Given the description of an element on the screen output the (x, y) to click on. 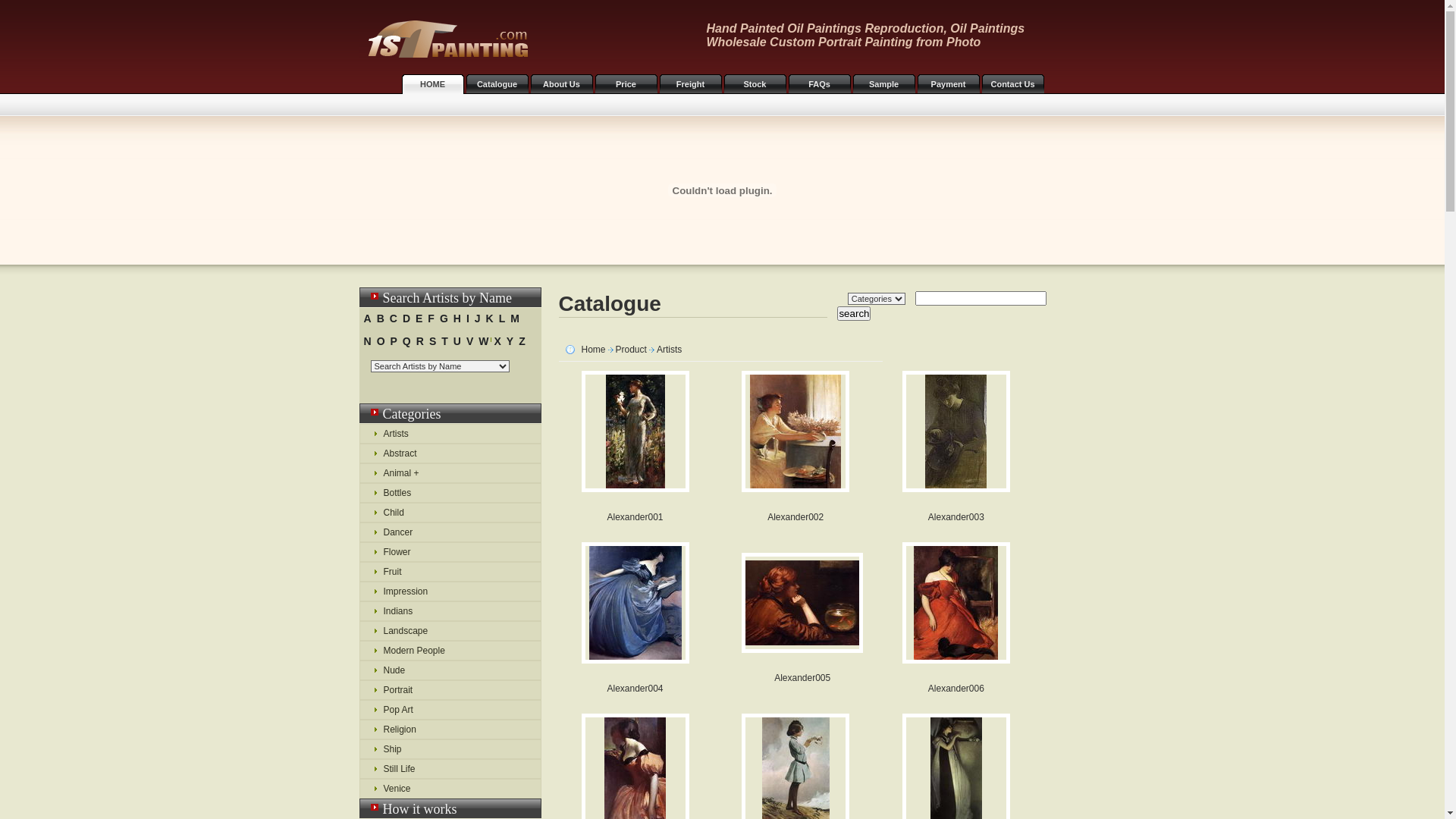
Dancer Element type: text (450, 532)
Abstract Element type: text (450, 453)
Freight Element type: text (690, 84)
Catalogue Element type: text (496, 84)
Z Element type: text (521, 341)
FAQs Element type: text (819, 84)
Fruit Element type: text (450, 571)
Flower Element type: text (450, 551)
F Element type: text (430, 318)
V Element type: text (469, 341)
K Element type: text (489, 318)
R Element type: text (420, 341)
H Element type: text (457, 318)
O Element type: text (380, 341)
About Us Element type: text (561, 84)
E Element type: text (418, 318)
Product Element type: text (630, 349)
Artists Element type: text (668, 349)
Artists Element type: text (450, 433)
Sample Element type: text (883, 84)
Animal + Element type: text (450, 473)
HOME Element type: text (432, 84)
Payment Element type: text (948, 84)
Contact Us Element type: text (1012, 84)
J Element type: text (477, 318)
N Element type: text (366, 341)
B Element type: text (380, 318)
Ship Element type: text (450, 749)
C Element type: text (393, 318)
S Element type: text (432, 341)
Pop Art Element type: text (450, 709)
P Element type: text (393, 341)
Religion Element type: text (450, 729)
T Element type: text (444, 341)
W Element type: text (483, 341)
Stock Element type: text (754, 84)
A Element type: text (366, 318)
Portrait Element type: text (450, 689)
Landscape Element type: text (450, 630)
X Element type: text (496, 341)
Y Element type: text (509, 341)
Impression Element type: text (450, 591)
M Element type: text (514, 318)
G Element type: text (443, 318)
Price Element type: text (625, 84)
Indians Element type: text (450, 611)
search Element type: text (853, 313)
Bottles Element type: text (450, 492)
Home Element type: text (592, 349)
Still Life Element type: text (450, 768)
Venice Element type: text (450, 788)
1stpainting Element type: hover (443, 35)
Child Element type: text (450, 512)
Nude Element type: text (450, 670)
L Element type: text (502, 318)
D Element type: text (406, 318)
I Element type: text (467, 318)
Q Element type: text (406, 341)
Modern People Element type: text (450, 650)
U Element type: text (457, 341)
